Given the description of an element on the screen output the (x, y) to click on. 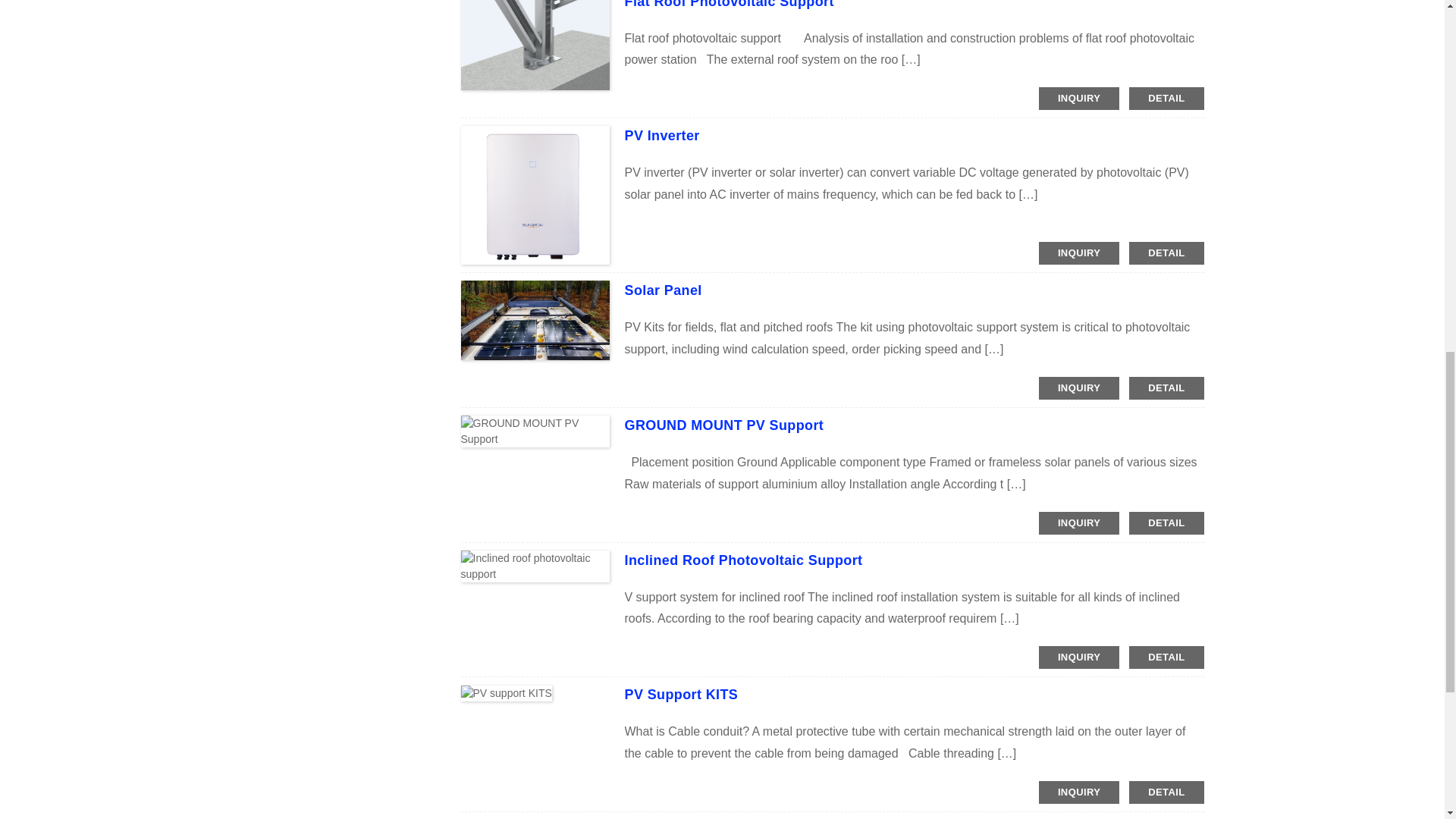
PV Inverter (662, 135)
DETAIL (1166, 252)
PV inverter (662, 135)
Flat roof photovoltaic support (729, 4)
Flat Roof Photovoltaic Support (729, 4)
INQUIRY (1079, 97)
DETAIL (1166, 97)
INQUIRY (1079, 252)
